Given the description of an element on the screen output the (x, y) to click on. 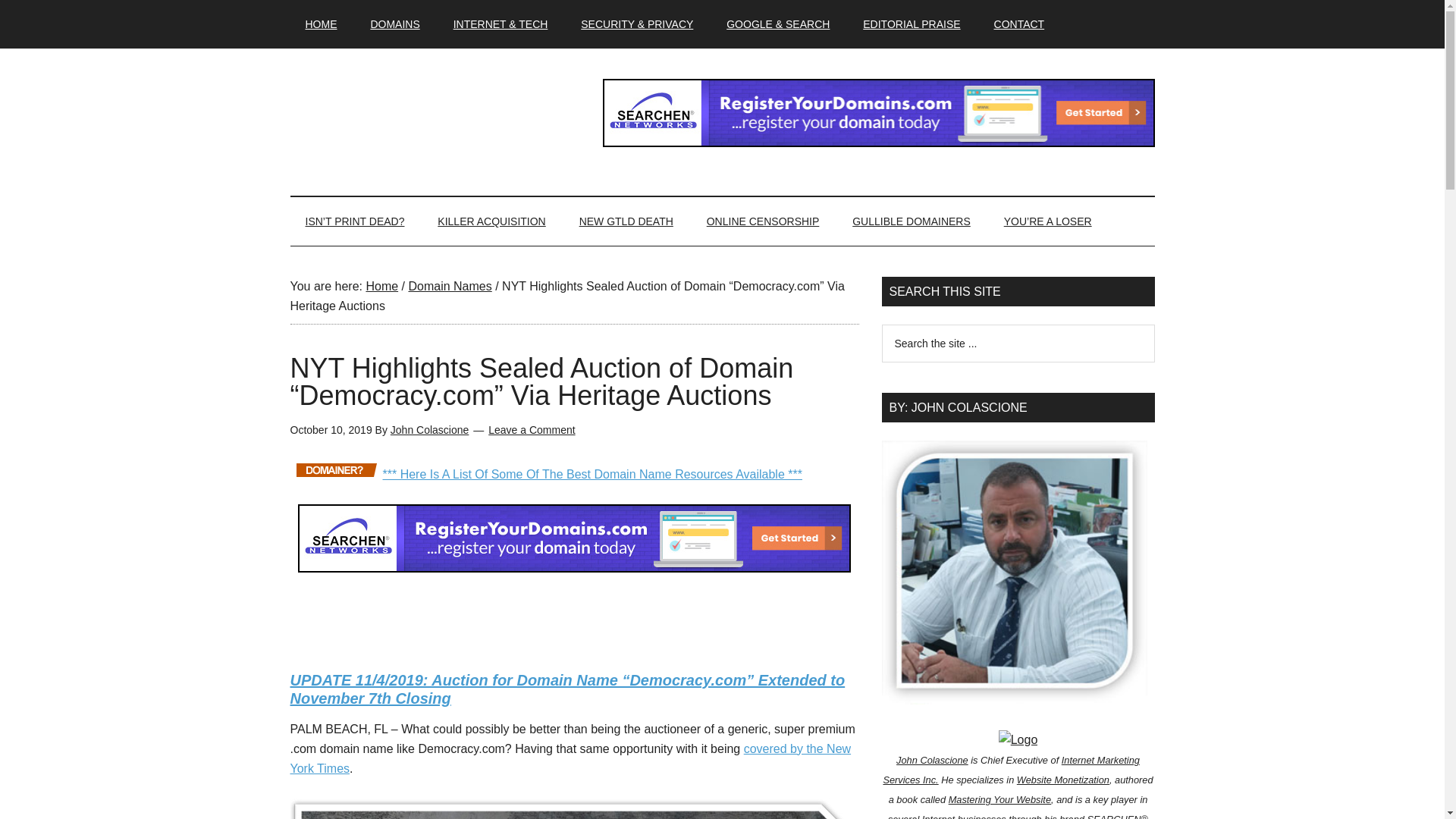
ONLINE CENSORSHIP (762, 221)
Domain Names (449, 286)
KILLER ACQUISITION (491, 221)
HOME (320, 24)
covered by the New York Times (569, 758)
John Colascione (429, 429)
CONTACT (1018, 24)
GULLIBLE DOMAINERS (911, 221)
Home (381, 286)
NEW GTLD DEATH (626, 221)
DOMAINS (394, 24)
Strategic Revenue - Domain and Internet News (433, 112)
EDITORIAL PRAISE (911, 24)
